Given the description of an element on the screen output the (x, y) to click on. 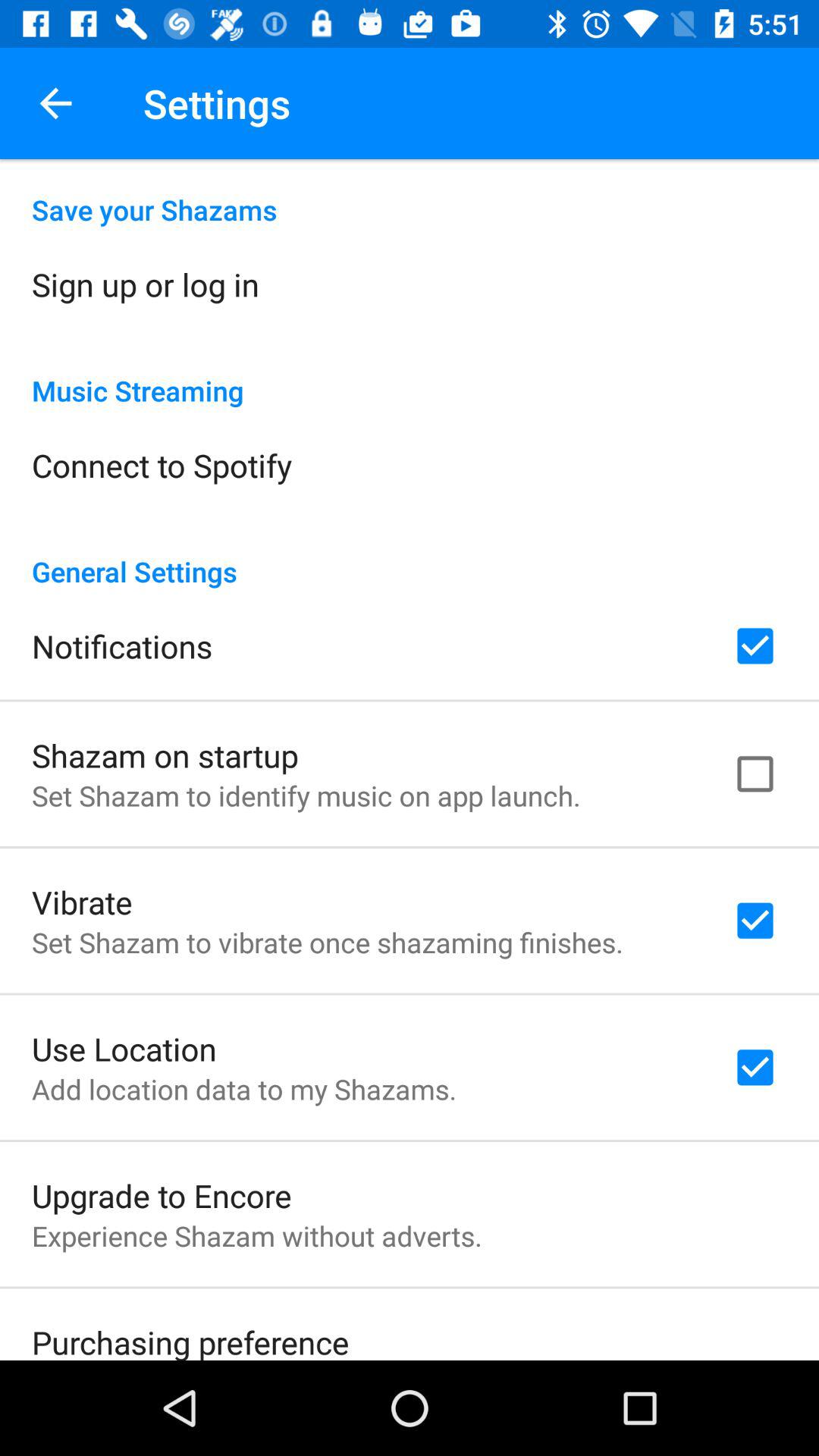
tap the icon below the set shazam to (123, 1048)
